Given the description of an element on the screen output the (x, y) to click on. 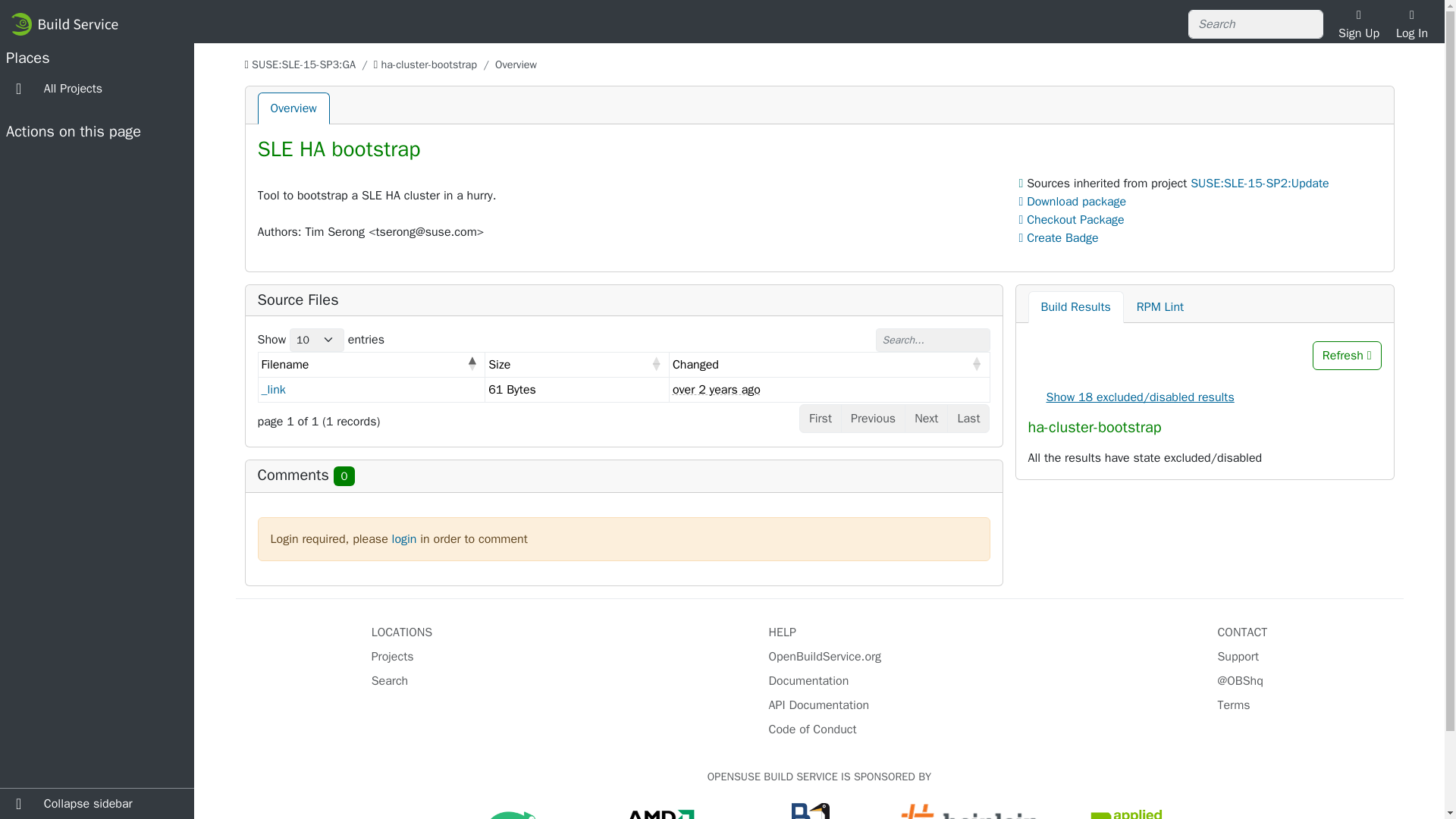
Overview (293, 108)
Support (1238, 656)
Sign Up (1358, 23)
2022-01-03 07:26 UTC (716, 389)
SUSE:SLE-15-SP3:GA (303, 64)
Build the future of ARMv8 on Applied Micro (1126, 816)
Previous (873, 418)
We provide Knowledge and Experience (969, 816)
Build Results (1075, 306)
Projects (392, 656)
